Given the description of an element on the screen output the (x, y) to click on. 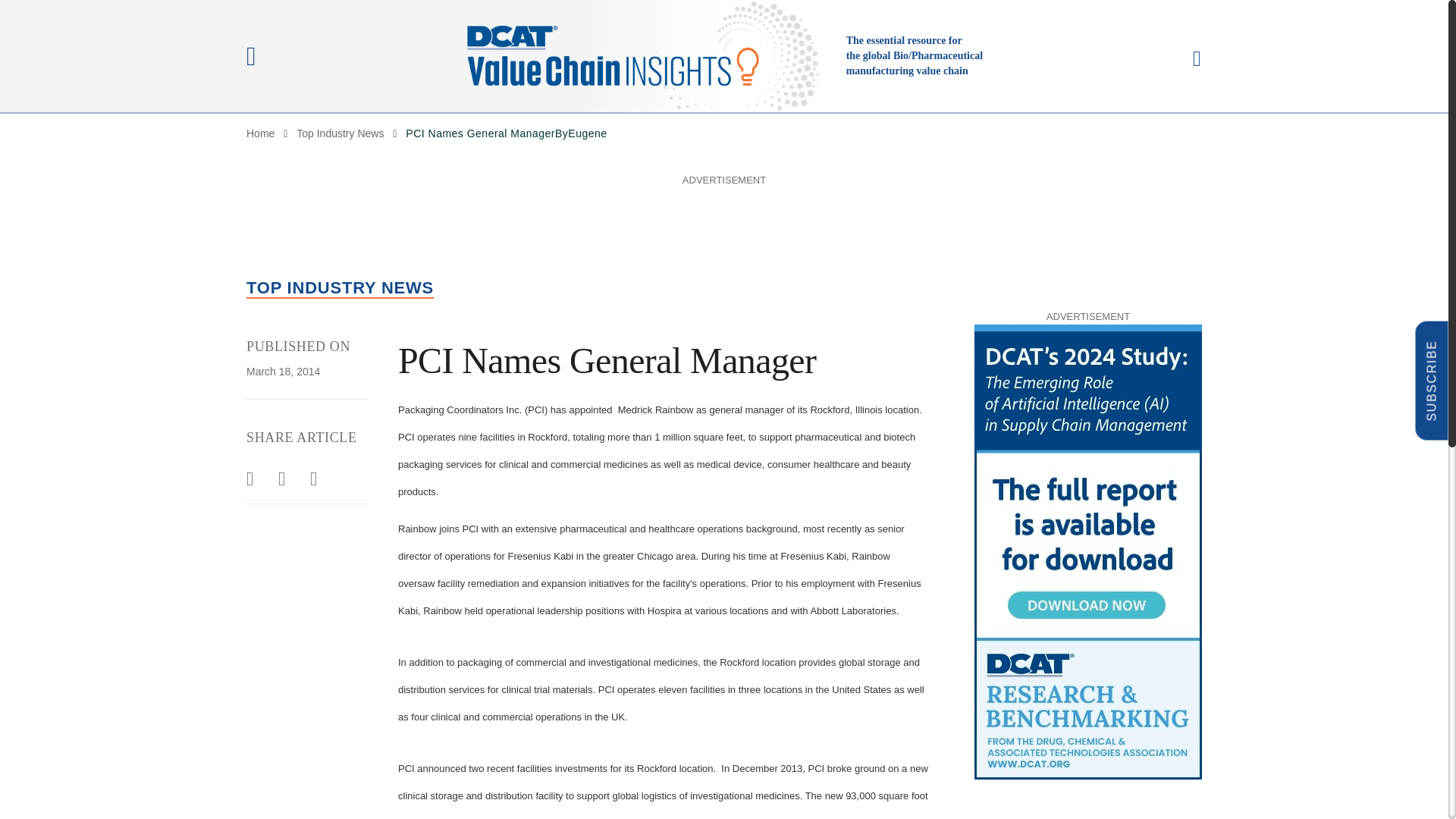
Top Industry News (340, 133)
TOP INDUSTRY NEWS (339, 288)
Home (260, 133)
